Given the description of an element on the screen output the (x, y) to click on. 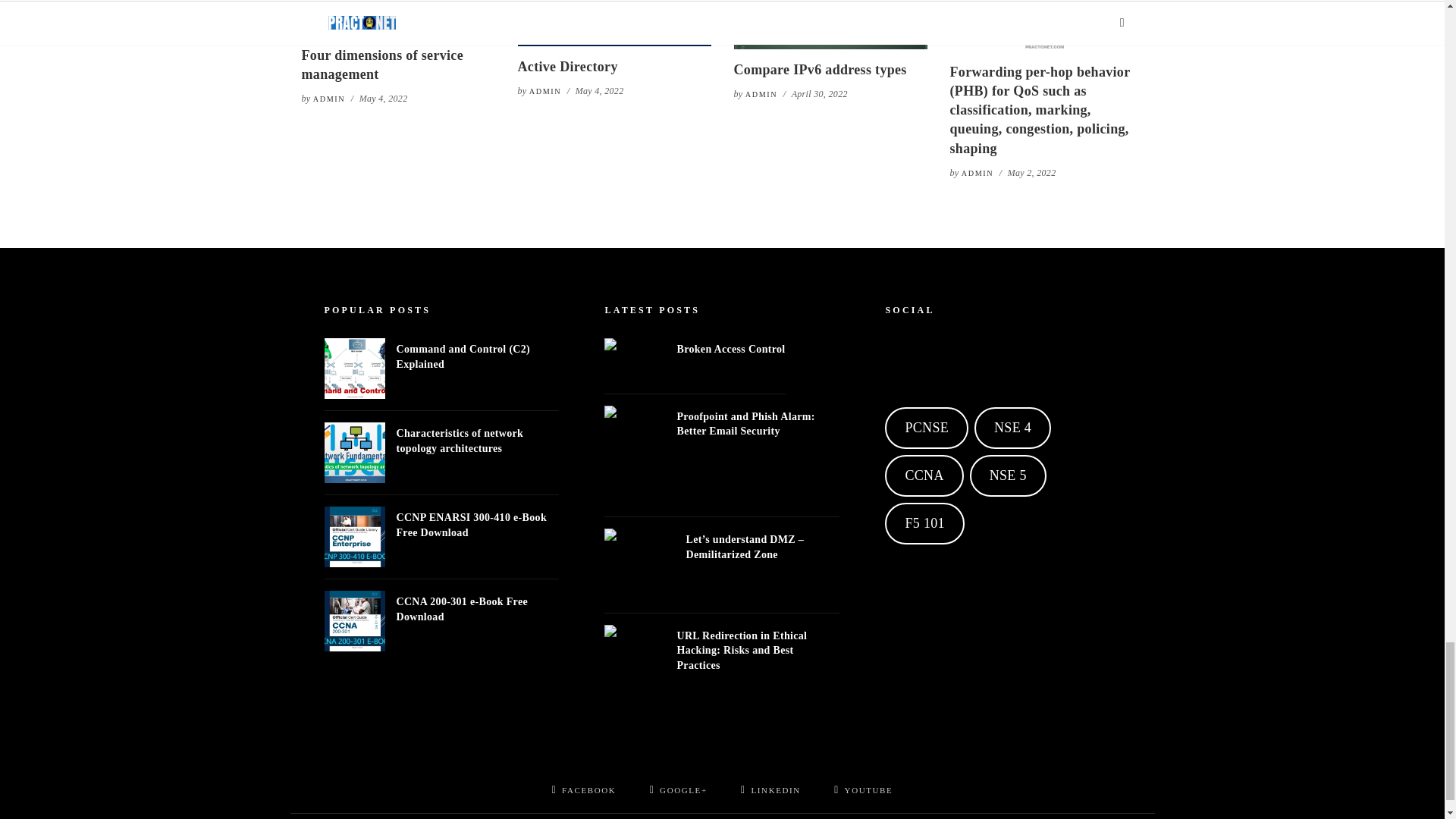
Four dimensions of service management (398, 17)
Active Directory (613, 22)
Compare IPv6 address types (830, 24)
